Given the description of an element on the screen output the (x, y) to click on. 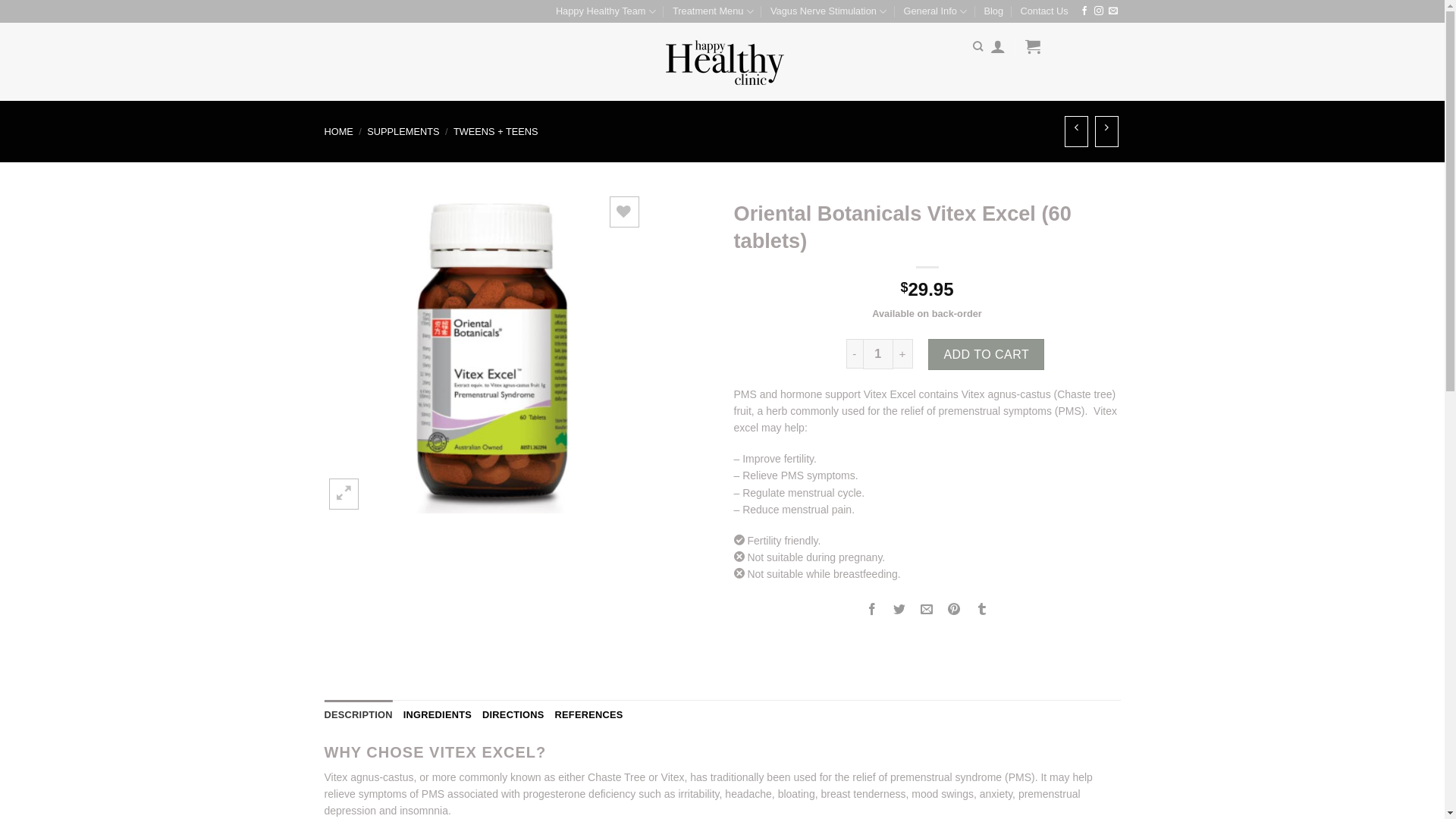
Vagus Nerve Stimulation Element type: text (828, 11)
DIRECTIONS Element type: text (512, 714)
General Info Element type: text (934, 11)
Qty Element type: hover (877, 353)
Happy Healthy Clinic - Healthcare revolutionised Element type: hover (721, 61)
Follow on Instagram Element type: hover (1098, 11)
Blog Element type: text (993, 11)
HOME Element type: text (338, 131)
Follow on Facebook Element type: hover (1083, 11)
Share on Twitter Element type: hover (899, 611)
Happy Healthy Team Element type: text (605, 11)
Treatment Menu Element type: text (712, 11)
TWEENS + TEENS Element type: text (495, 131)
Send us an email Element type: hover (1112, 11)
Email to a Friend Element type: hover (926, 611)
Cart Element type: hover (1032, 45)
canva-oriental-botanical-vitex-1 Element type: hover (483, 352)
Share on Facebook Element type: hover (871, 611)
REFERENCES Element type: text (589, 714)
Pin on Pinterest Element type: hover (953, 611)
INGREDIENTS Element type: text (437, 714)
SUPPLEMENTS Element type: text (403, 131)
ADD TO CART Element type: text (986, 354)
Zoom Element type: hover (343, 493)
Share on Tumblr Element type: hover (981, 611)
Contact Us Element type: text (1043, 11)
DESCRIPTION Element type: text (358, 714)
